Given the description of an element on the screen output the (x, y) to click on. 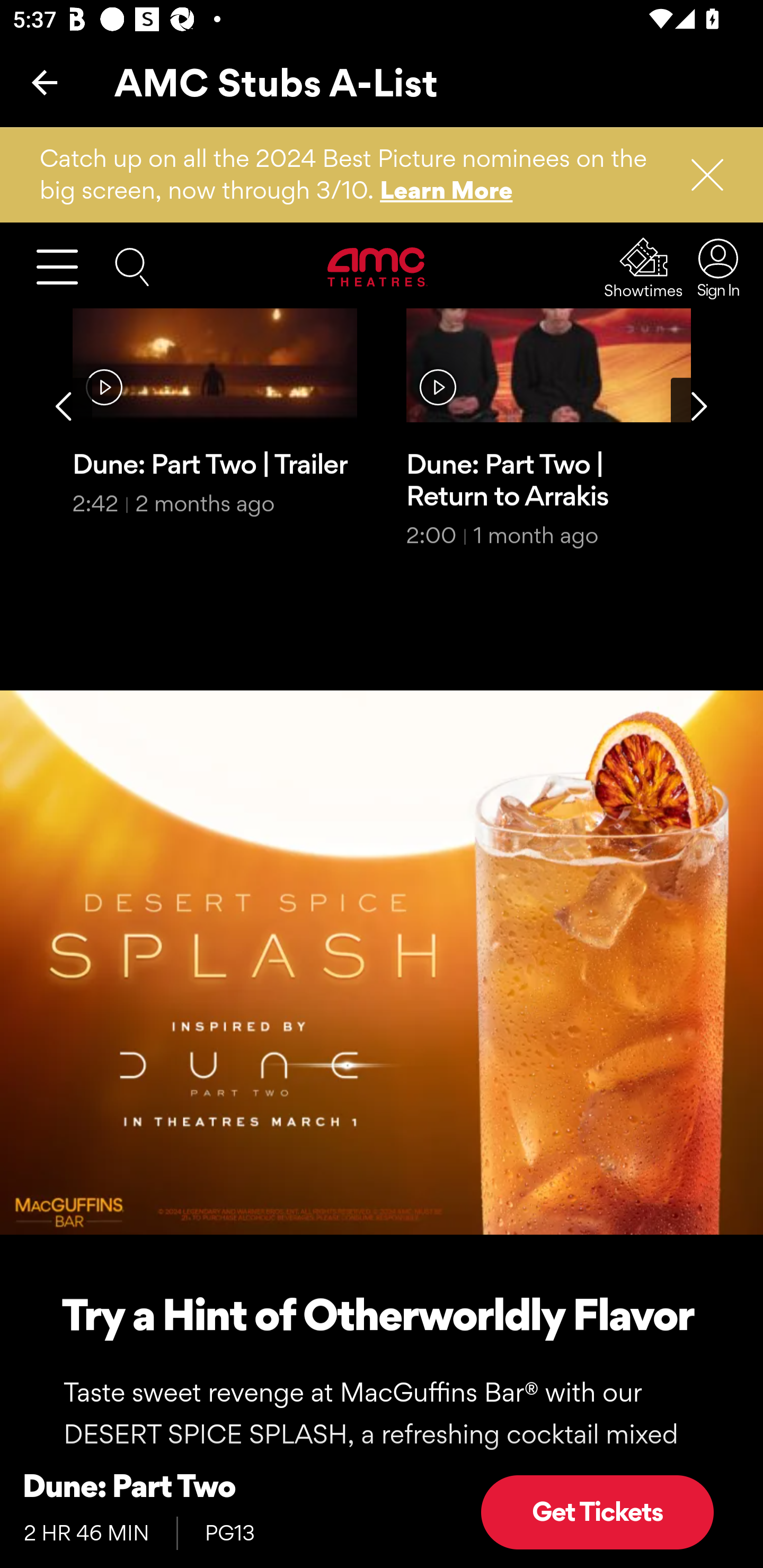
Back (44, 82)
Dismiss Notification (699, 176)
Learn More (446, 190)
Open Menu (64, 267)
Showtimes Showtimes Showtimes (643, 268)
Sign In (713, 268)
Search the AMC website (131, 266)
Visit Home Page AMC Theatres Logo (377, 267)
Navigate to the previous movie (63, 407)
Navigate to the next movie (698, 407)
get tickets for Dune: Part Two Get Tickets (596, 1513)
